Given the description of an element on the screen output the (x, y) to click on. 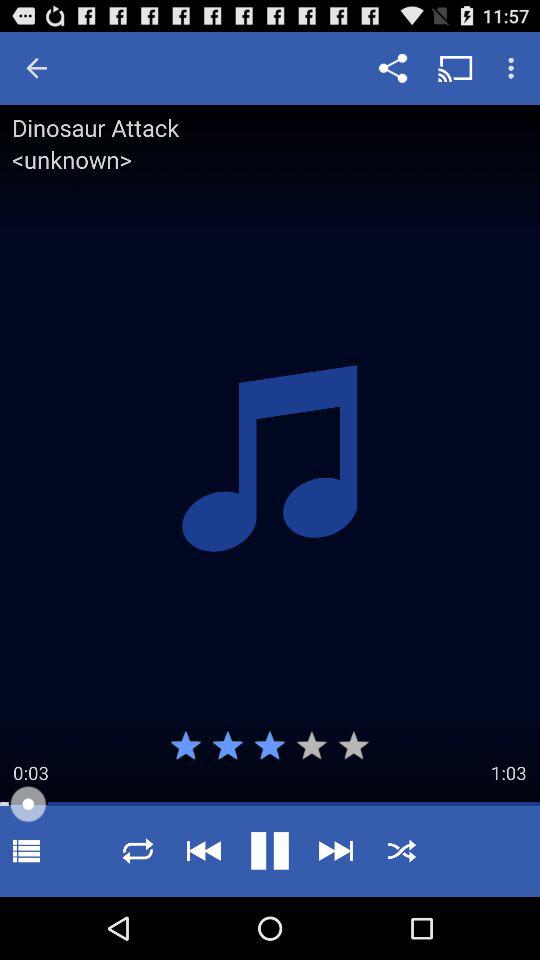
select the menu option which is on the top right corner (514, 68)
click on shuffle icon (401, 850)
click on replay (137, 850)
click play button (269, 850)
select forward button (335, 850)
